Given the description of an element on the screen output the (x, y) to click on. 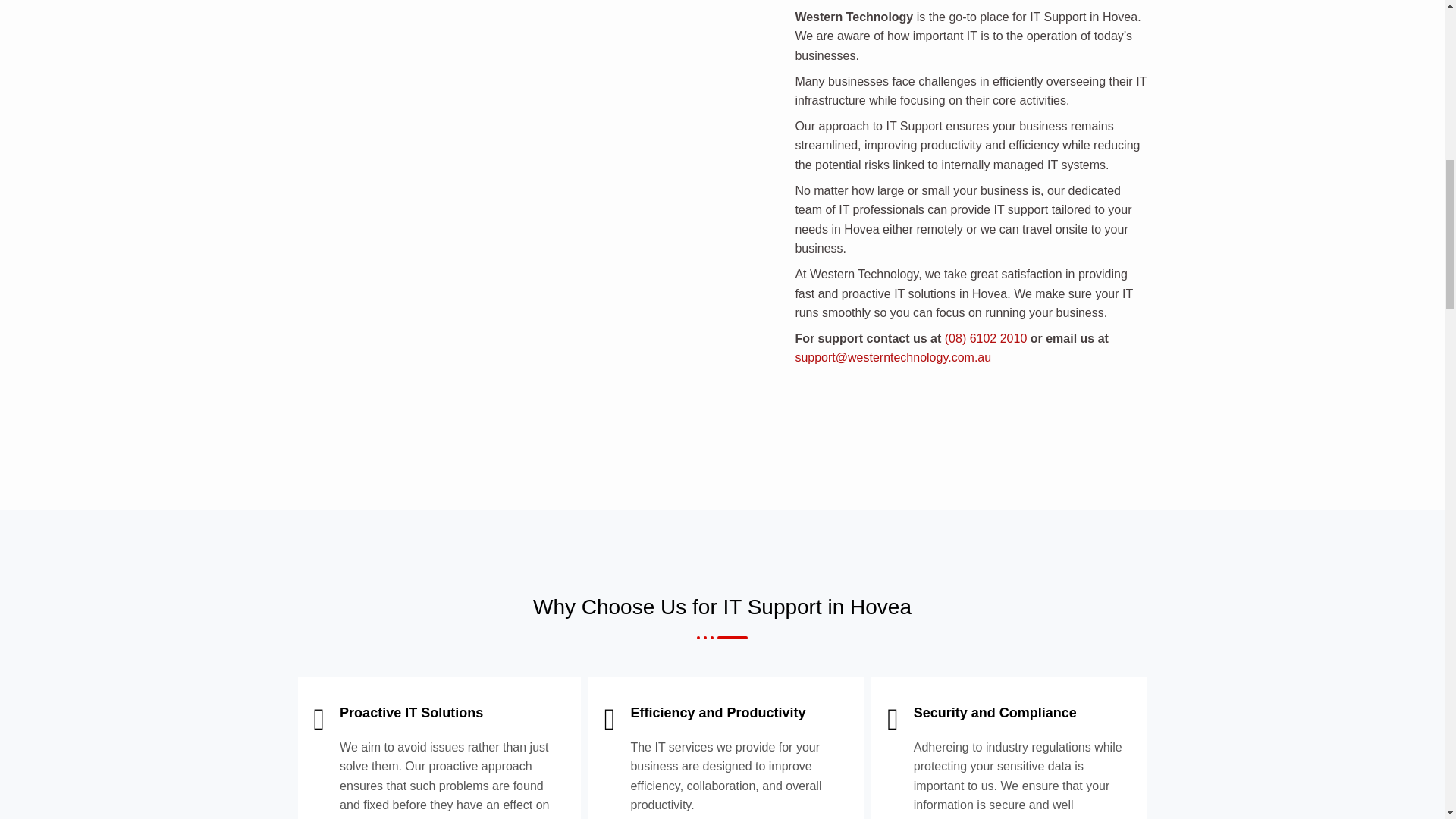
IT Support in Hovea 1 (508, 112)
